Given the description of an element on the screen output the (x, y) to click on. 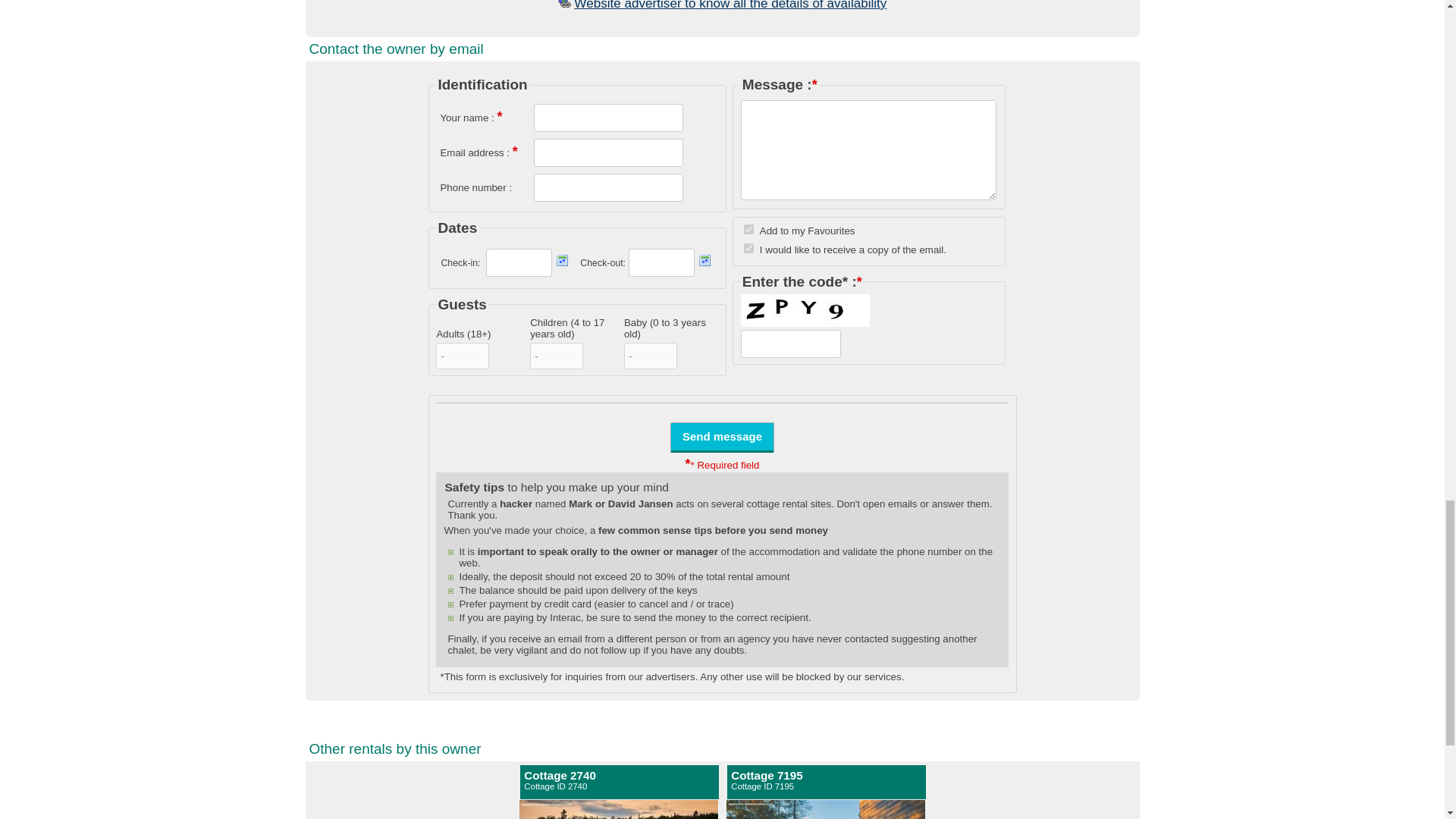
Send message (827, 780)
on (721, 436)
Send message (749, 229)
Website advertiser to know all the details of availability (721, 436)
on (729, 5)
